Given the description of an element on the screen output the (x, y) to click on. 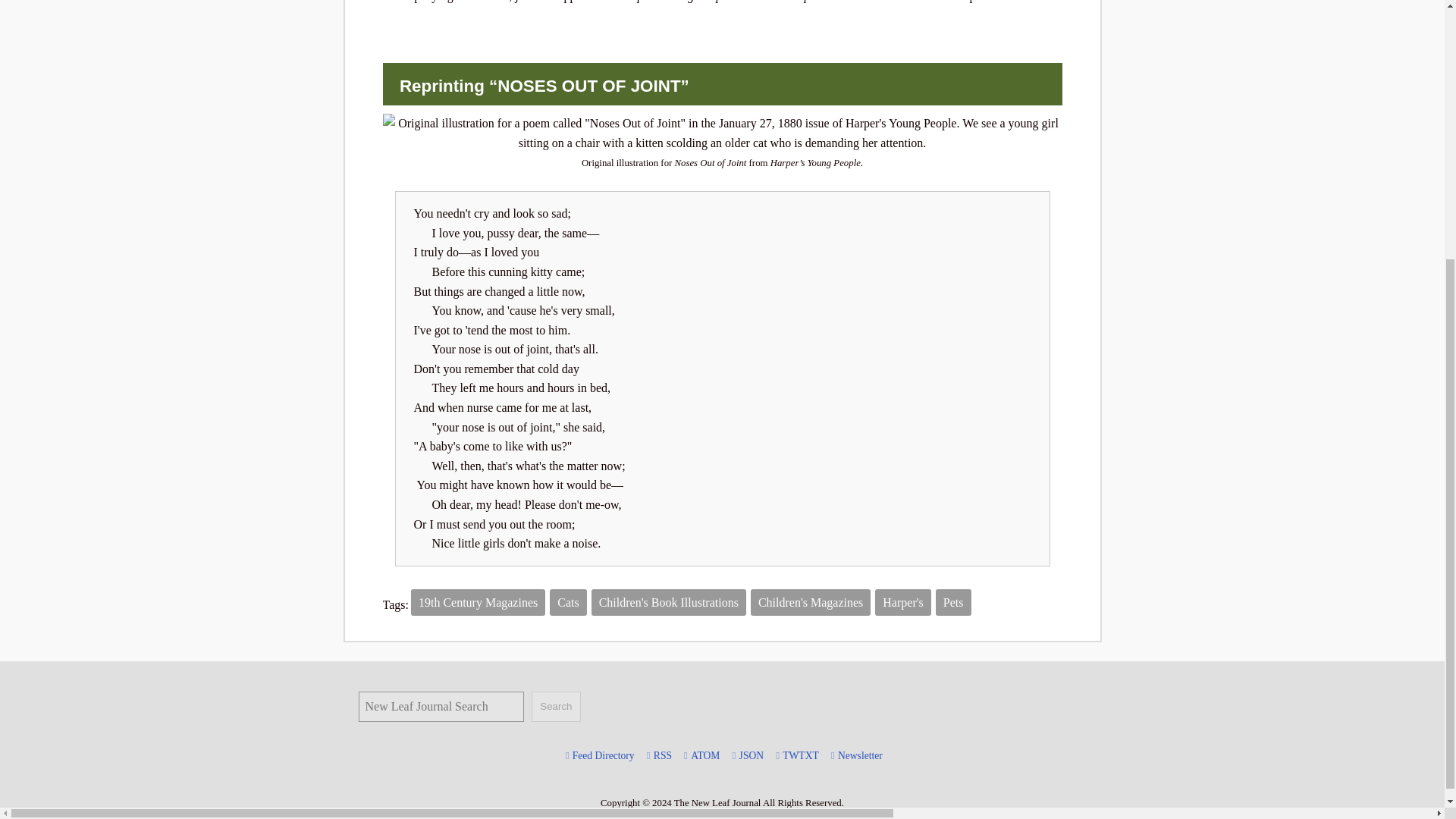
Newsletter (859, 756)
ATOM (704, 756)
Children's Magazines (810, 601)
RSS (662, 756)
Harper's (903, 601)
TWTXT (800, 756)
Cats (568, 601)
Feed Directory (603, 756)
19th Century Magazines (477, 601)
Pets (953, 601)
JSON (751, 756)
Children's Book Illustrations (668, 601)
Search (555, 706)
